Given the description of an element on the screen output the (x, y) to click on. 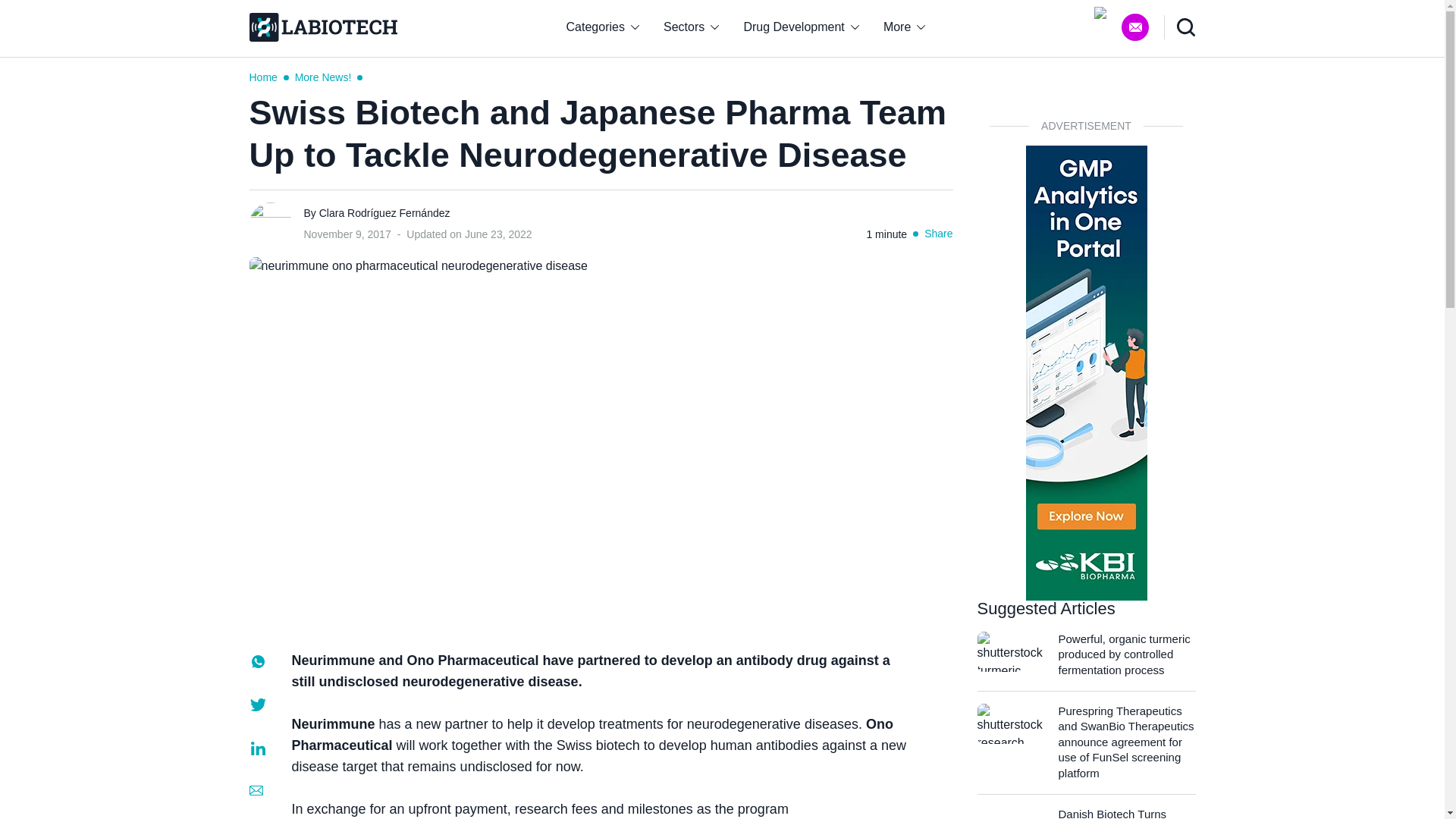
Sectors (690, 27)
Labiotech.eu (322, 27)
Drug Development (800, 27)
Categories (602, 27)
